Given the description of an element on the screen output the (x, y) to click on. 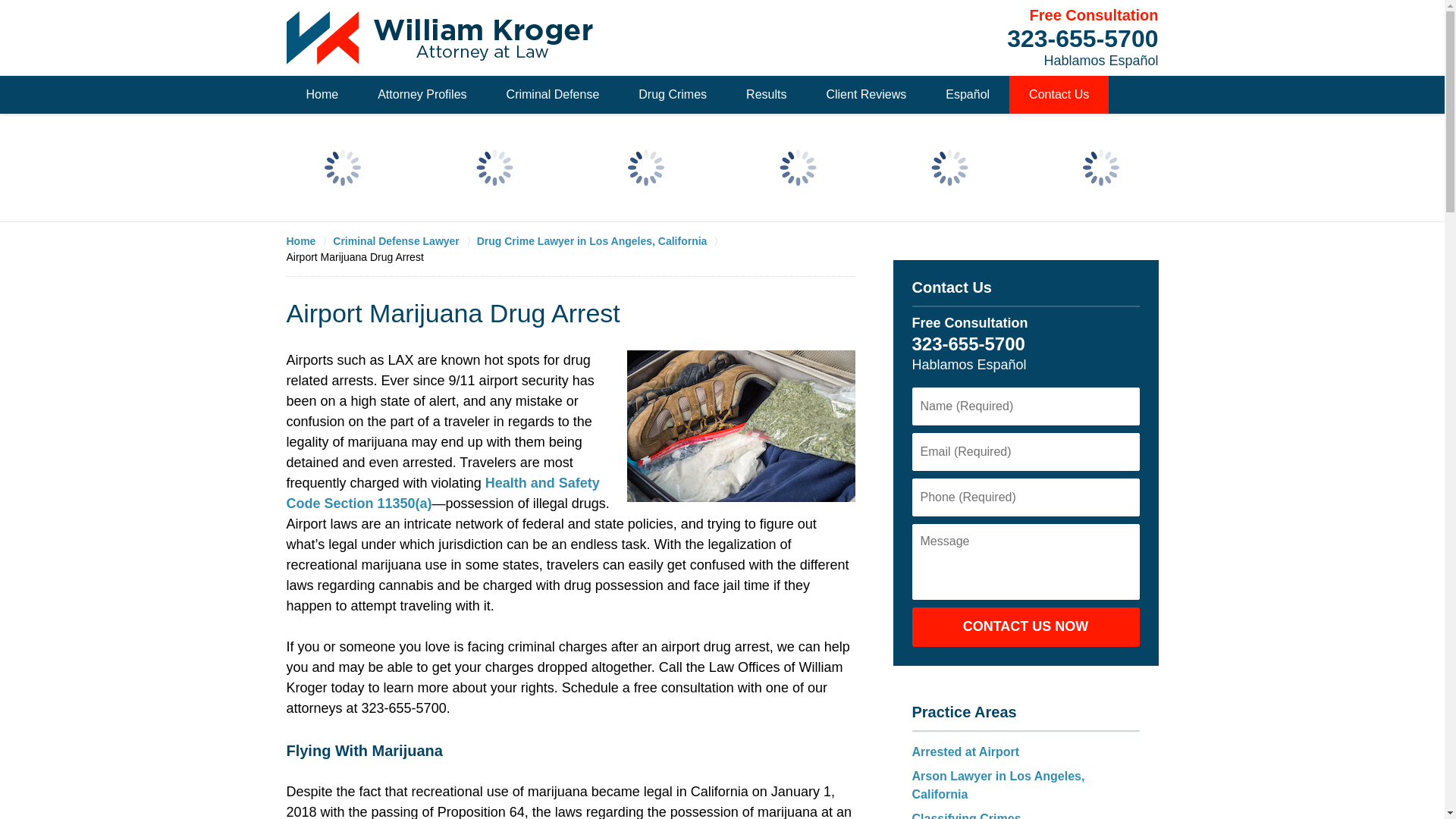
Attorney Profiles (422, 94)
William Kroger Home (439, 37)
Client Reviews (866, 94)
Back to Home (439, 37)
323-655-5700 (1082, 38)
Drug Crimes (672, 94)
Results (766, 94)
Home (322, 94)
Free Consultation (1093, 14)
Criminal Defense (553, 94)
Home (309, 241)
Contact Us (1058, 94)
